Given the description of an element on the screen output the (x, y) to click on. 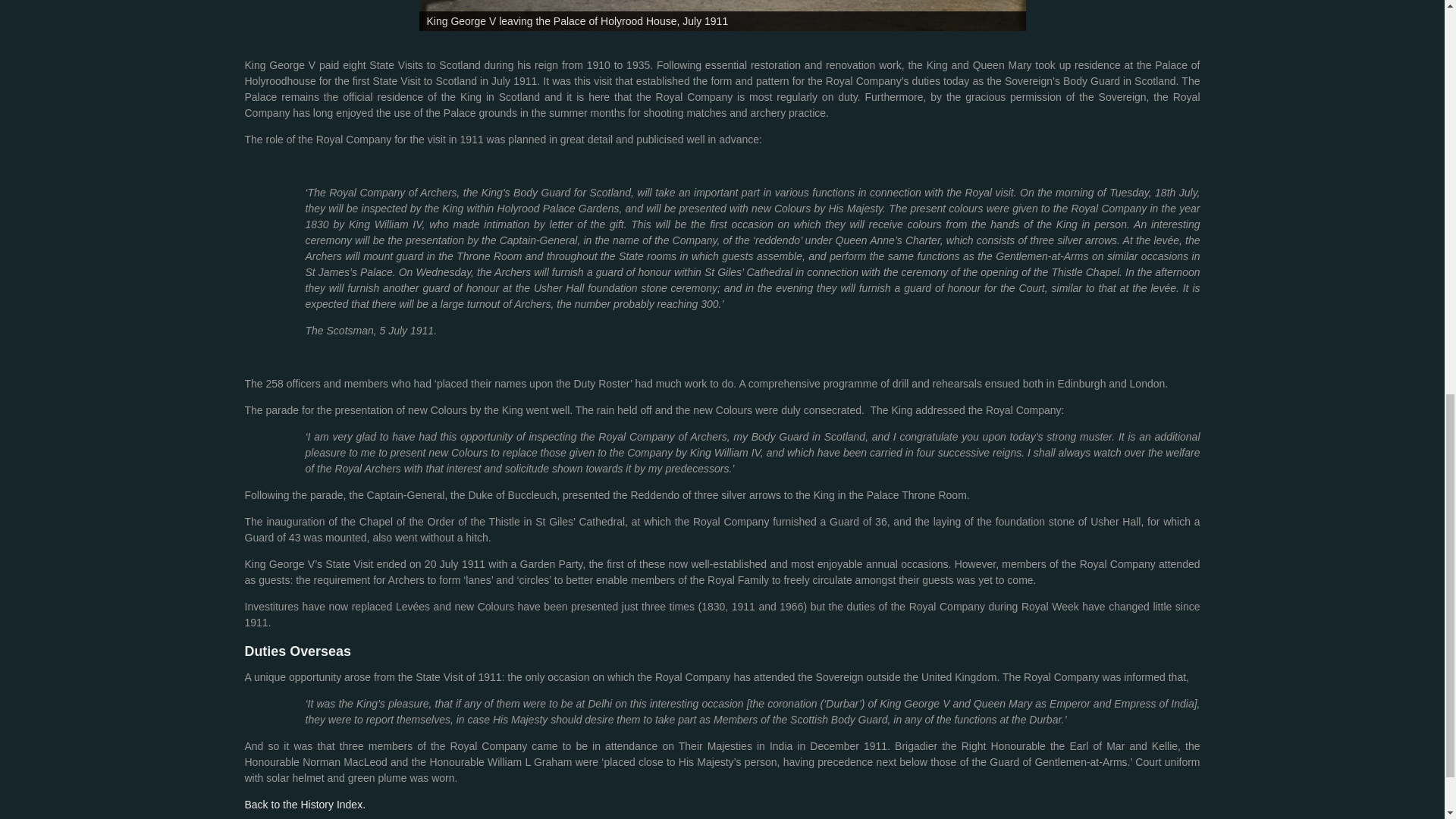
Back to the History Index. (304, 804)
